Given the description of an element on the screen output the (x, y) to click on. 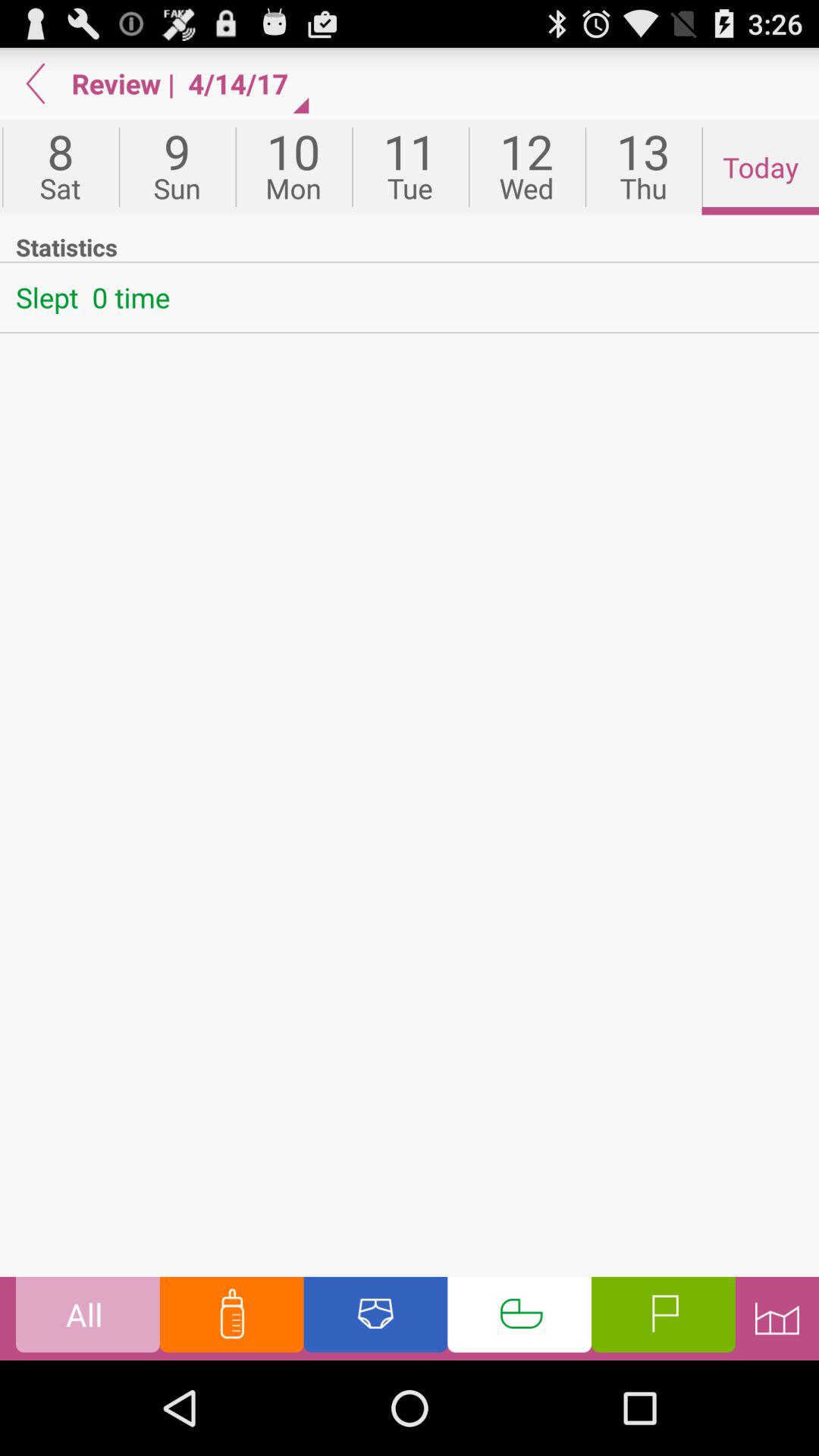
set event day (519, 1318)
